Given the description of an element on the screen output the (x, y) to click on. 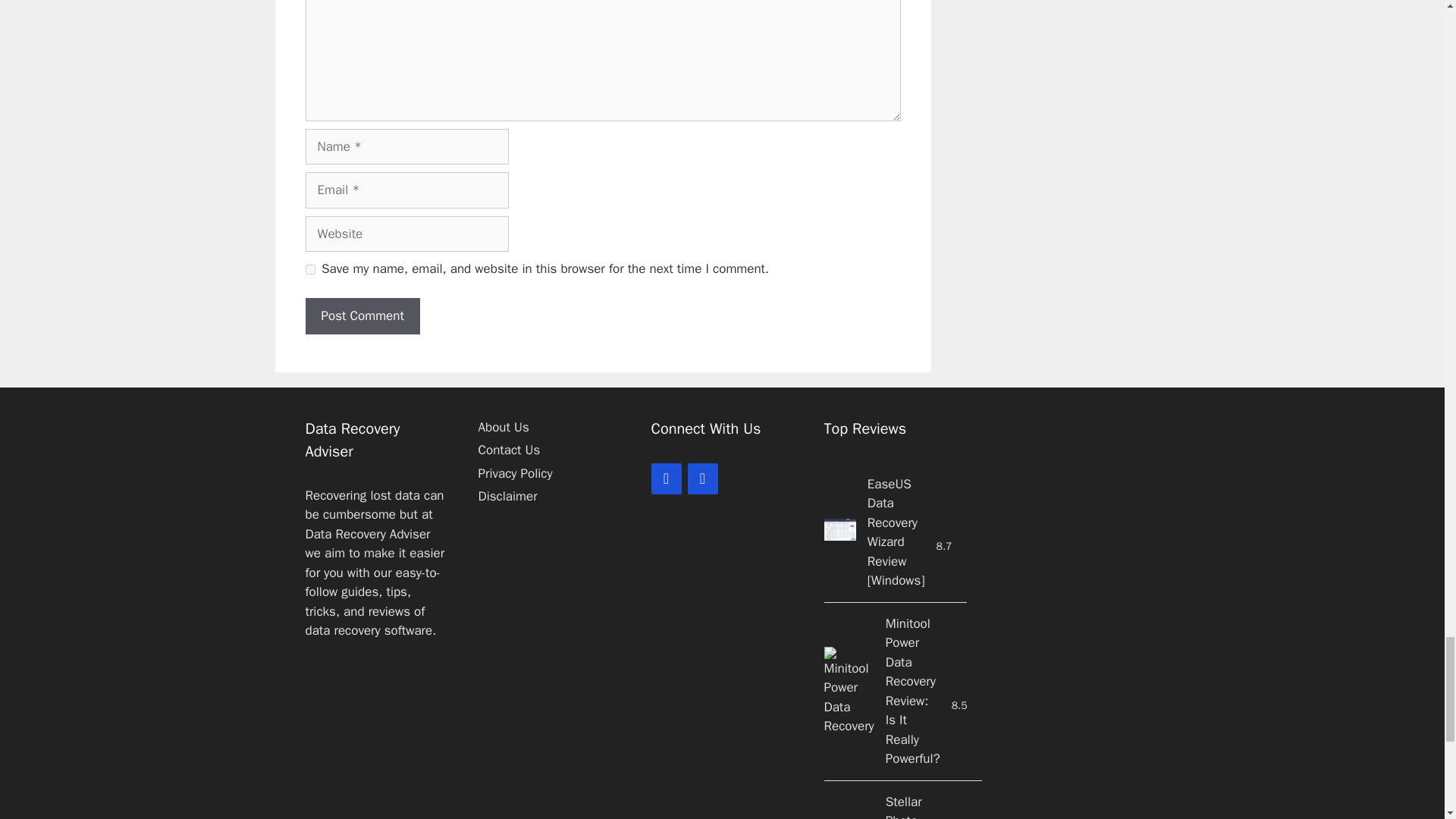
YouTube (702, 478)
Post Comment (361, 316)
yes (309, 269)
Post Comment (361, 316)
EaseUS Data Recovery Wizard For Windows (840, 532)
Facebook (665, 478)
